Given the description of an element on the screen output the (x, y) to click on. 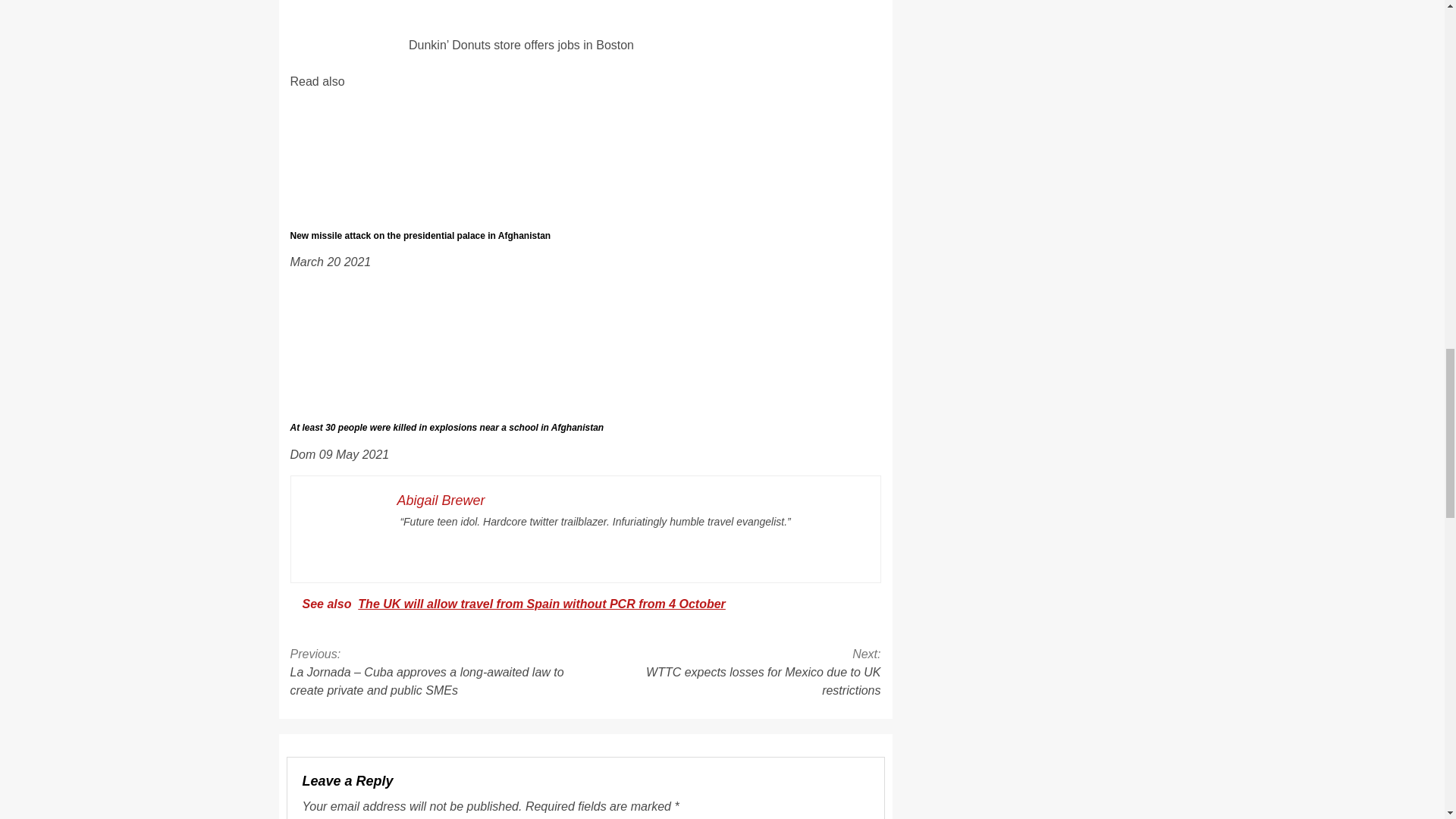
Abigail Brewer (440, 500)
